Given the description of an element on the screen output the (x, y) to click on. 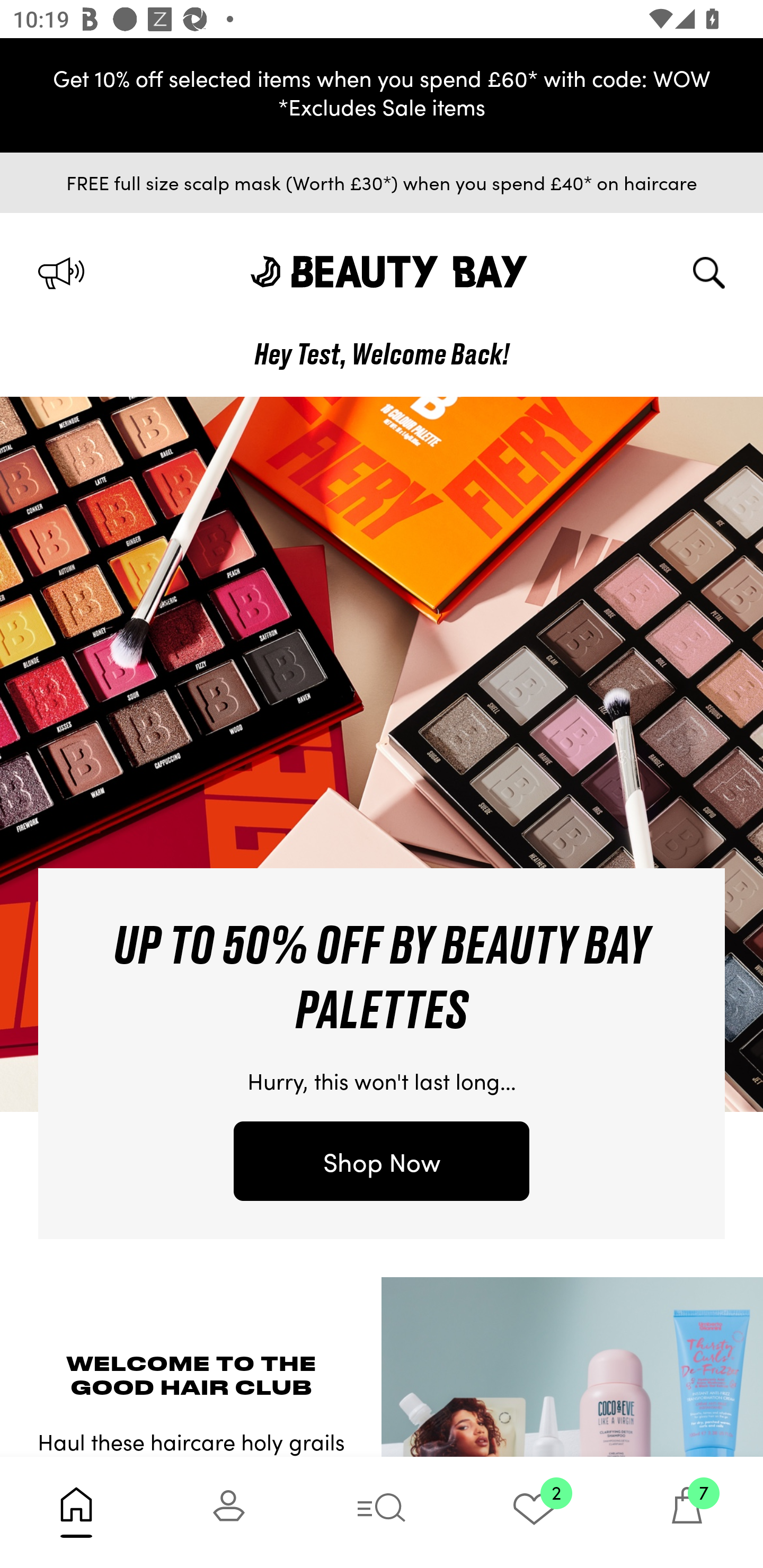
2 (533, 1512)
7 (686, 1512)
